Given the description of an element on the screen output the (x, y) to click on. 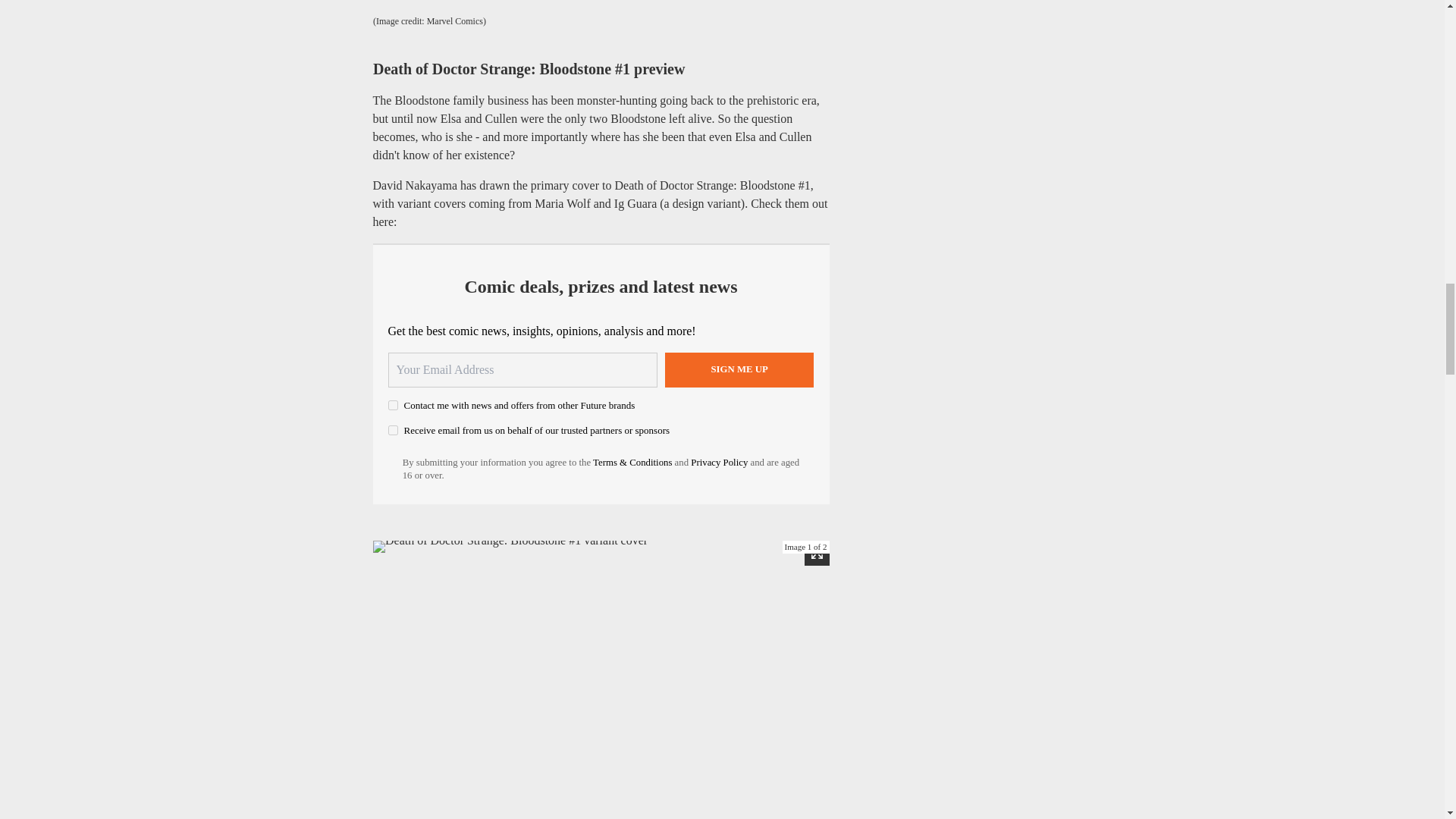
on (392, 405)
Sign me up (739, 369)
on (392, 429)
